Given the description of an element on the screen output the (x, y) to click on. 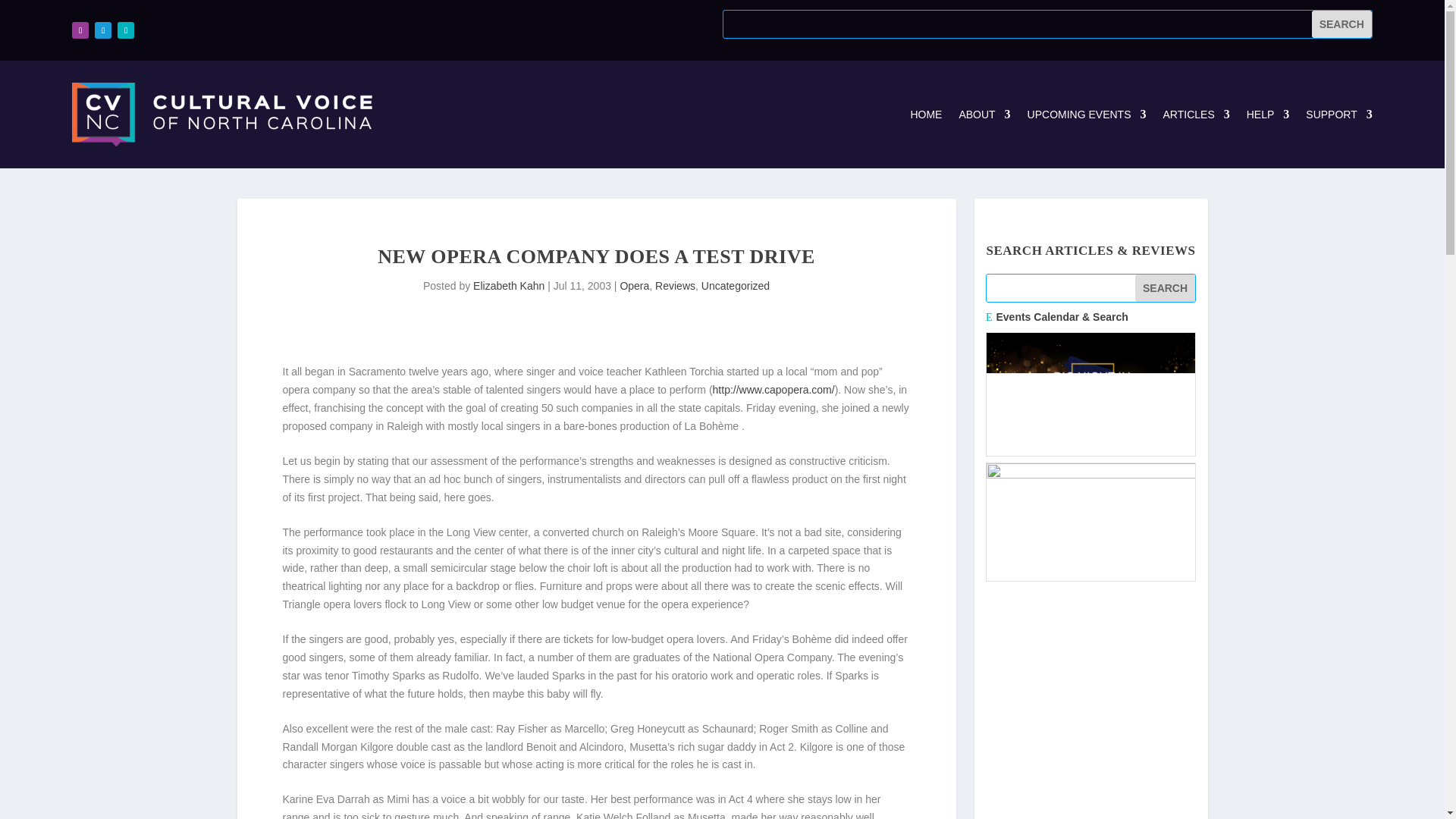
Search (1165, 288)
Follow on X (103, 30)
Posts by Elizabeth Kahn (508, 285)
Search (1165, 288)
UPCOMING EVENTS (1087, 114)
Search (1341, 23)
ARTICLES (1196, 114)
Search (1341, 23)
Follow on Facebook (79, 30)
Search (1341, 23)
